Given the description of an element on the screen output the (x, y) to click on. 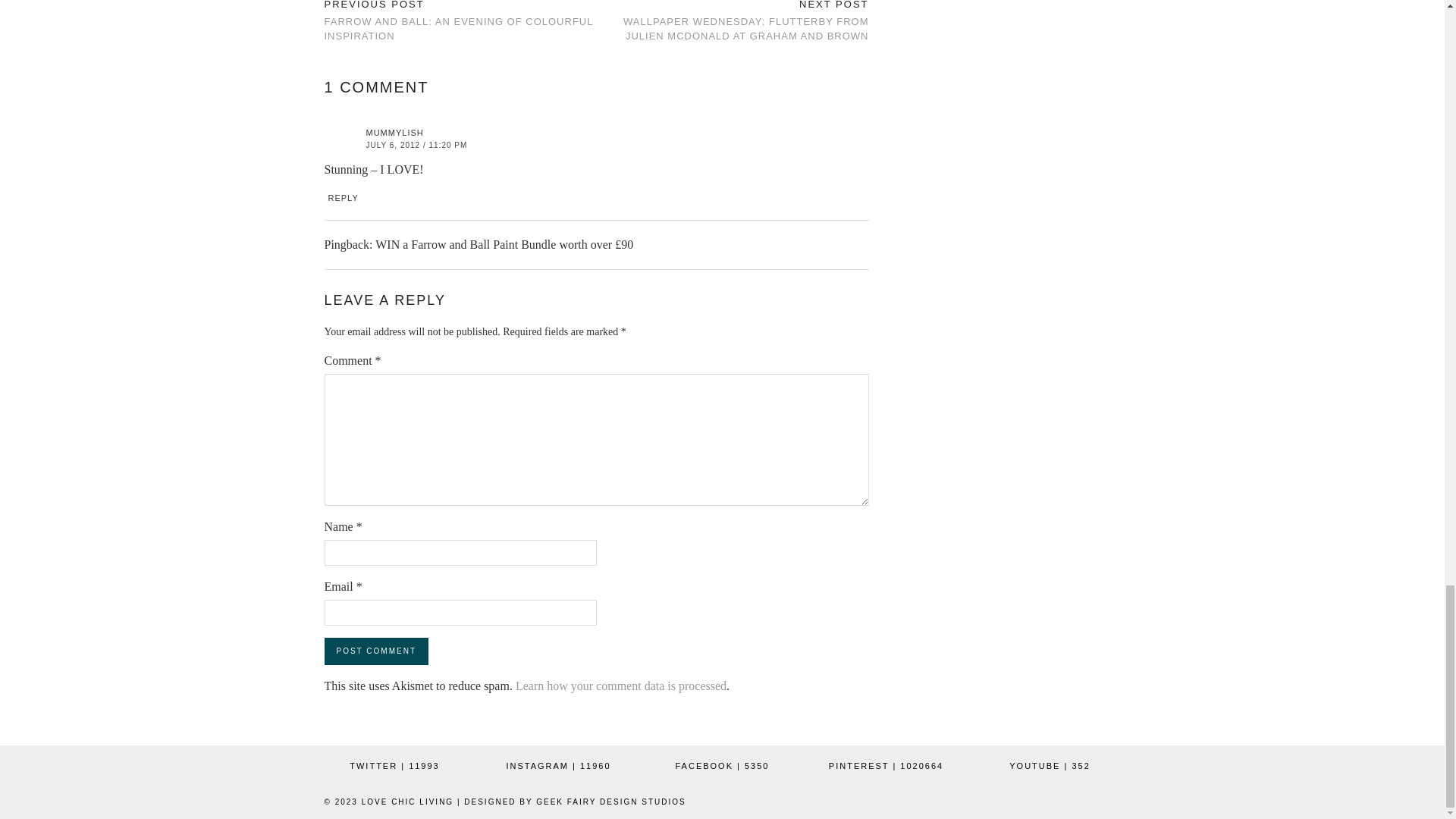
Post Comment (376, 651)
